Given the description of an element on the screen output the (x, y) to click on. 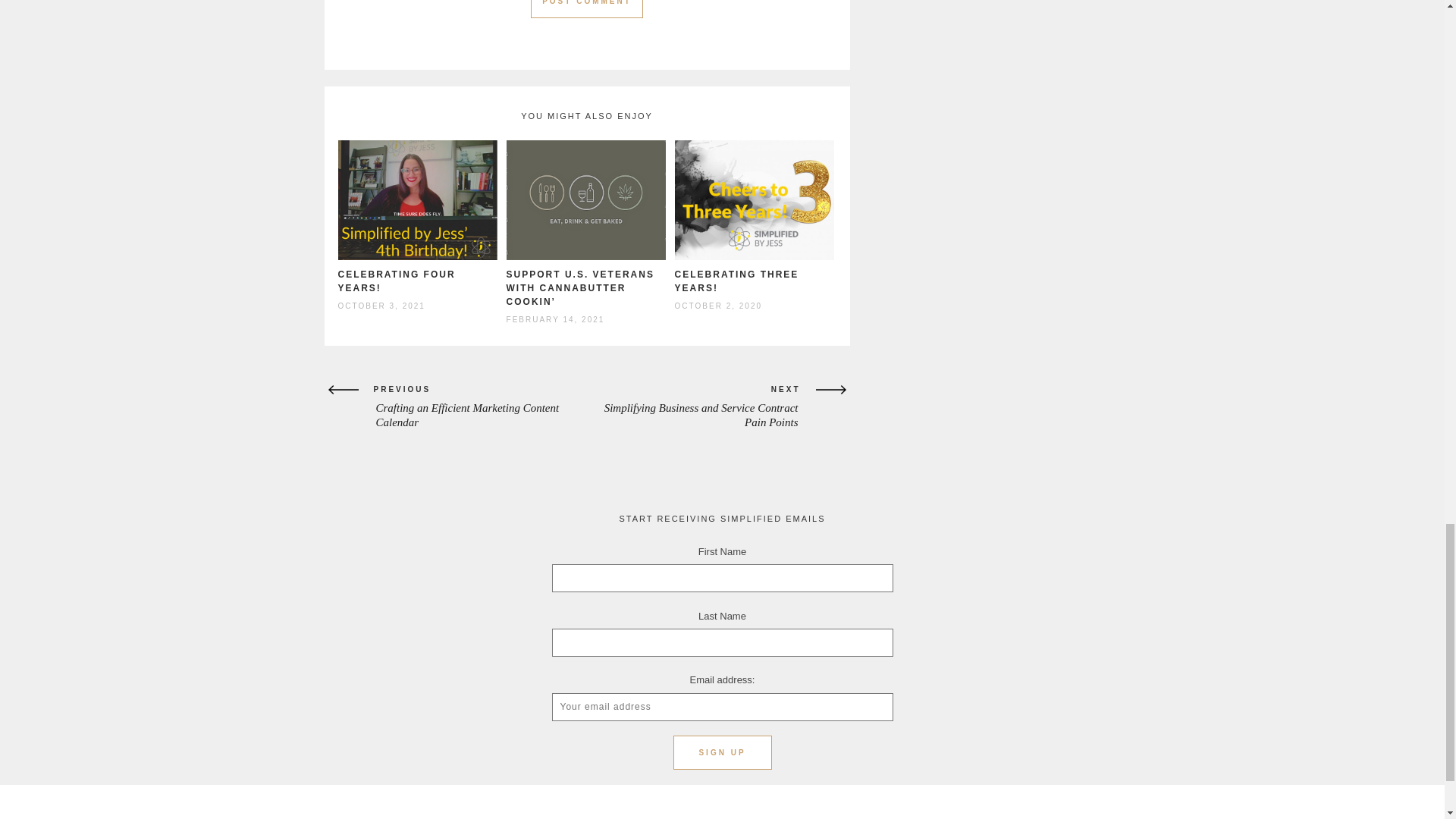
CELEBRATING THREE YEARS! (737, 281)
ABOUT (583, 809)
CELEBRATING FOUR YEARS! (396, 281)
Sign up (721, 752)
Sign up (721, 752)
Post Comment (587, 9)
Post Comment (587, 9)
